Given the description of an element on the screen output the (x, y) to click on. 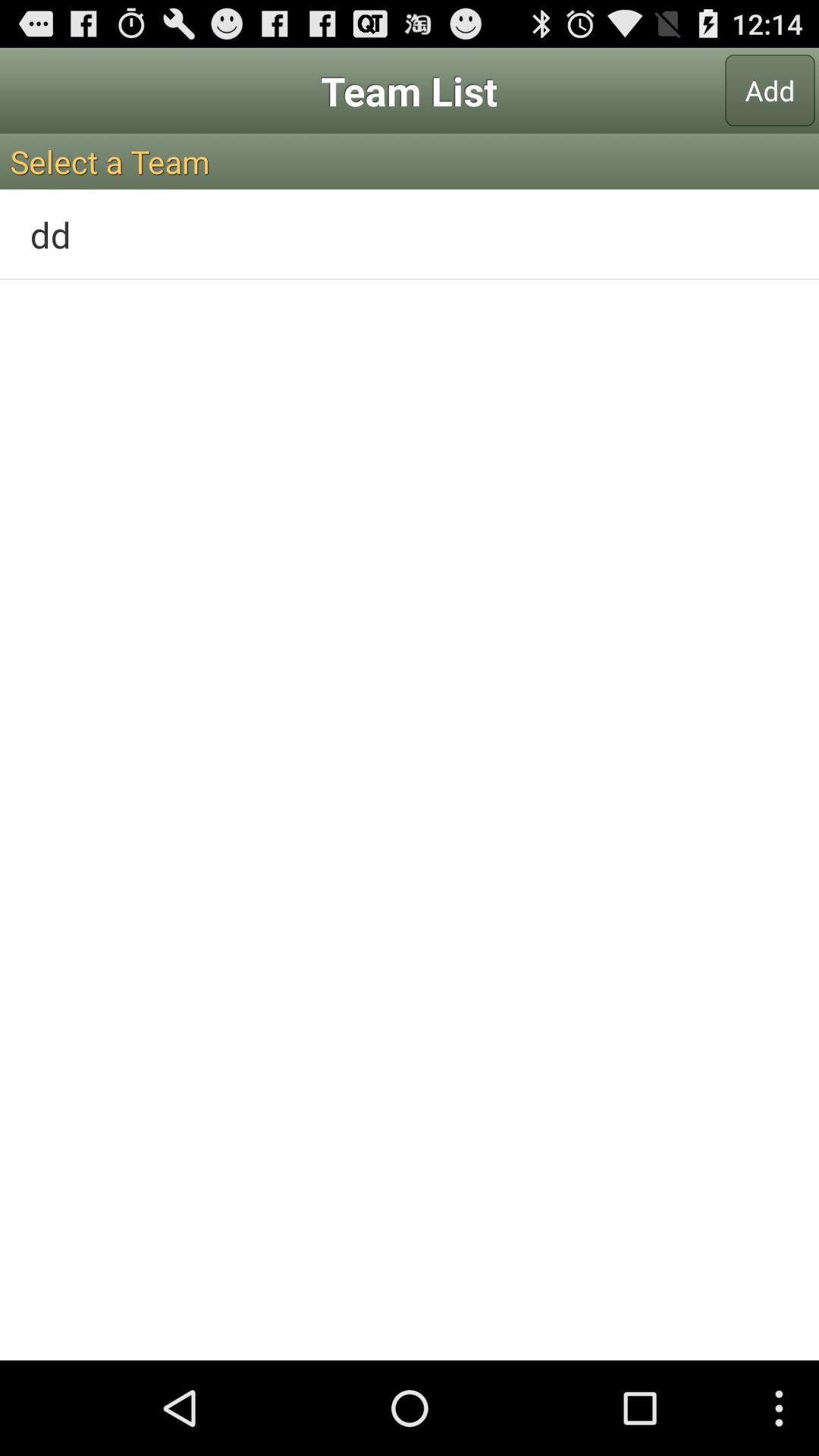
press item to the right of the team list (770, 90)
